Given the description of an element on the screen output the (x, y) to click on. 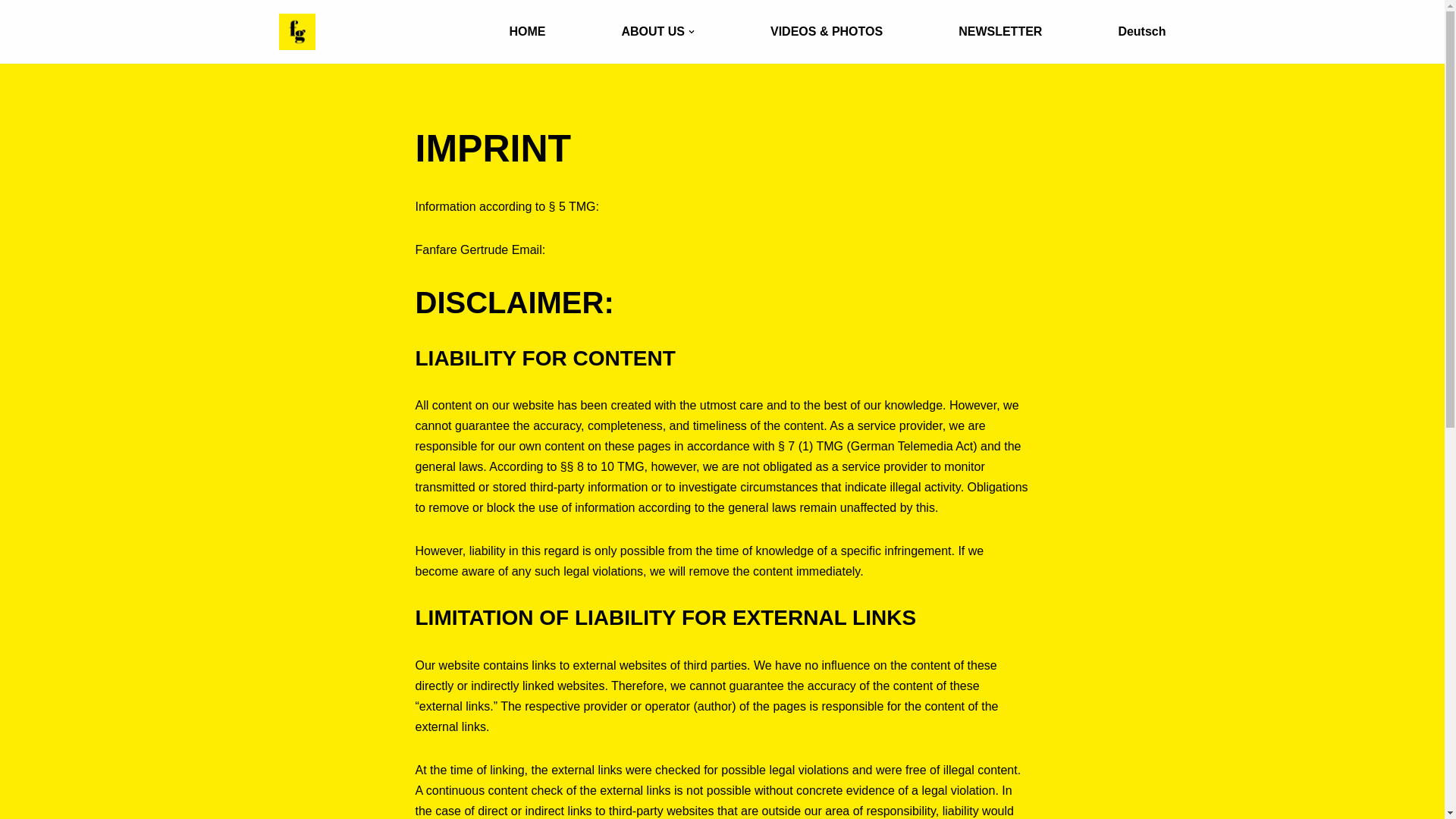
ABOUT US (657, 31)
HOME (526, 31)
Deutsch (1142, 31)
Skip to content (11, 31)
Fanfare Gertrude (301, 31)
NEWSLETTER (1000, 31)
